Given the description of an element on the screen output the (x, y) to click on. 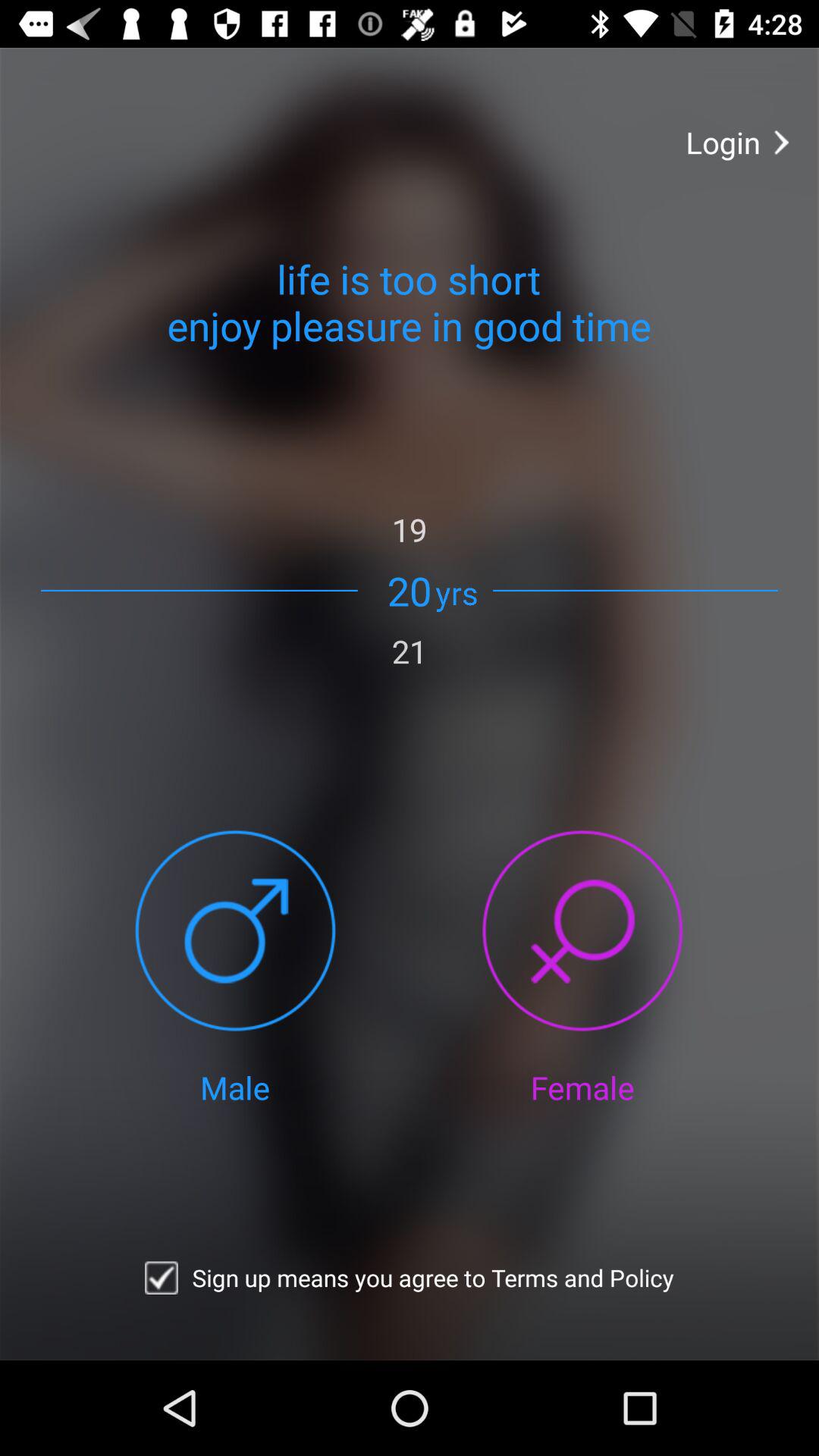
chech box for reading the terms and policy (161, 1277)
